Given the description of an element on the screen output the (x, y) to click on. 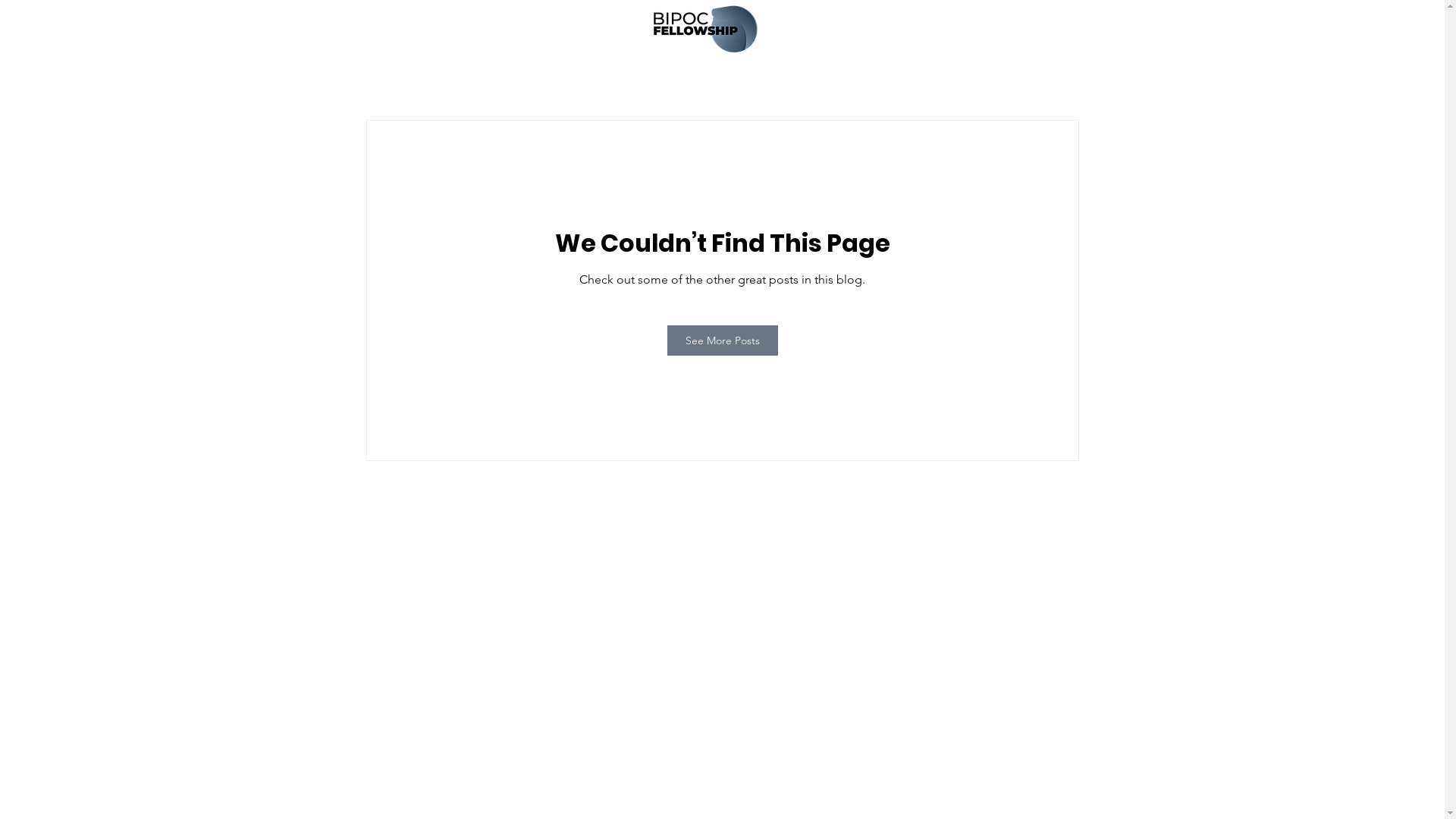
See More Posts Element type: text (722, 340)
